Given the description of an element on the screen output the (x, y) to click on. 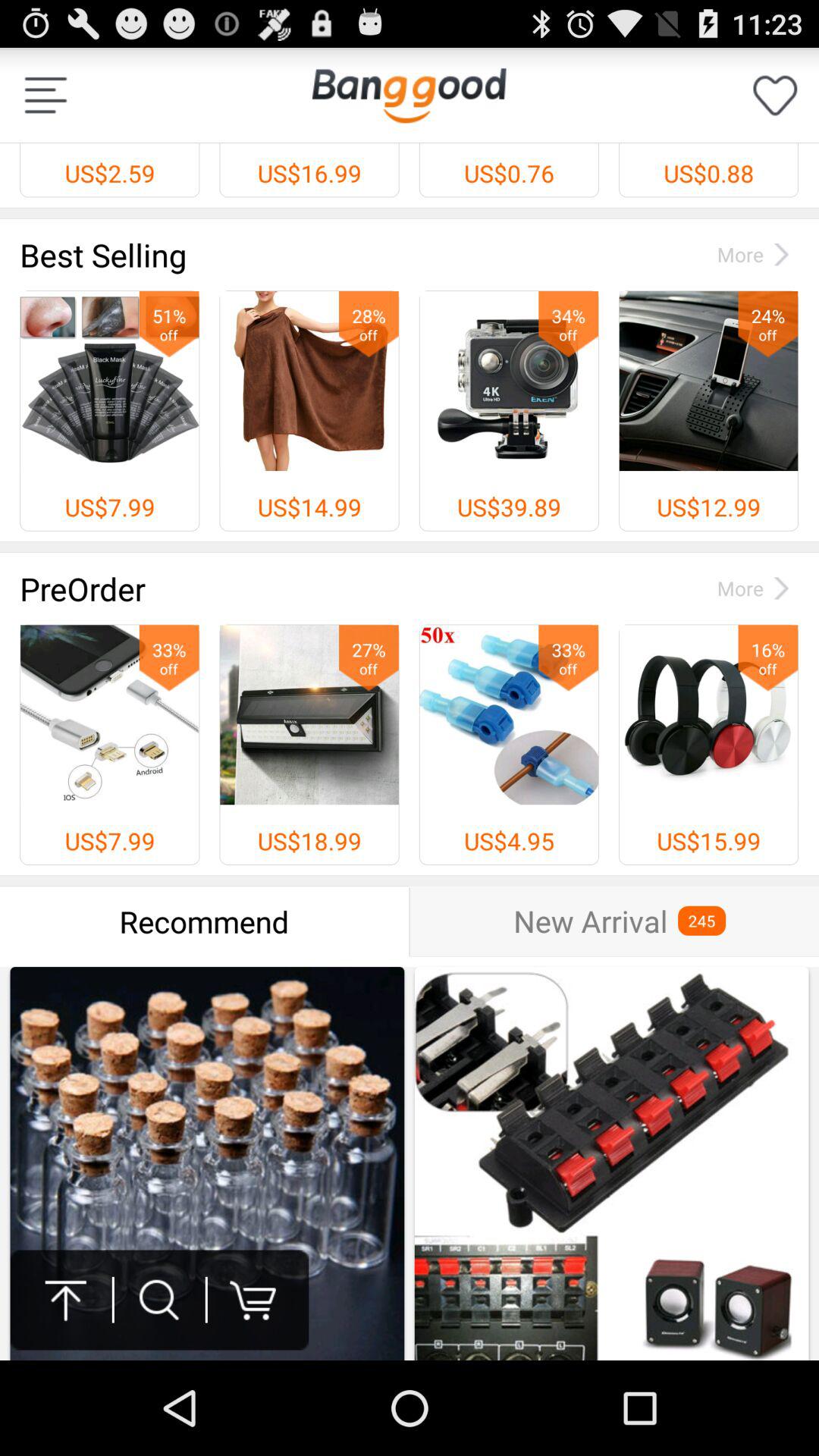
like button (775, 95)
